Given the description of an element on the screen output the (x, y) to click on. 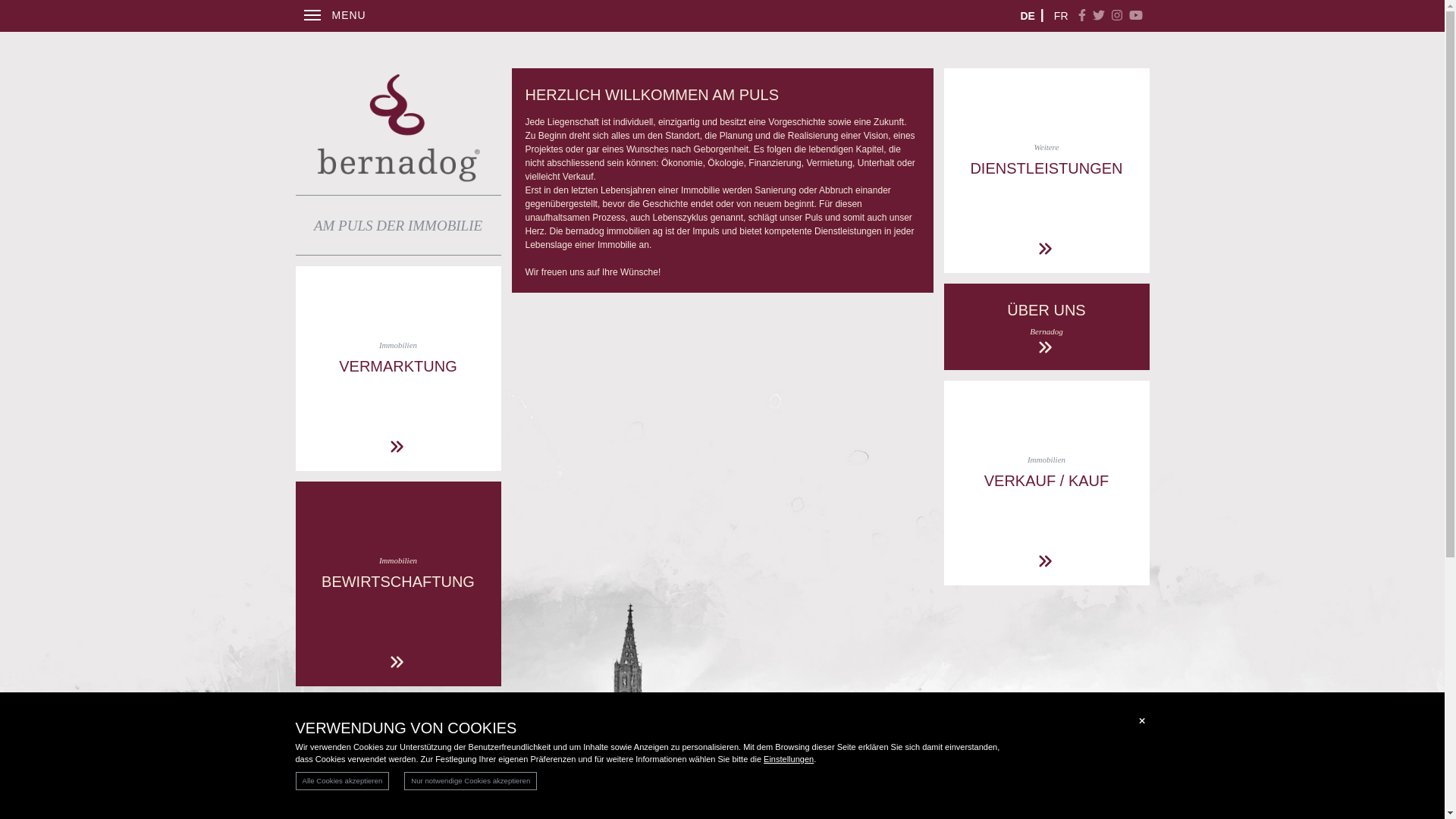
Alle Cookies akzeptieren Element type: text (342, 780)
MENU Element type: text (334, 15)
Einstellungen Element type: text (788, 758)
Nur notwendige Cookies akzeptieren Element type: text (470, 780)
DE Element type: text (1027, 16)
FR Element type: text (1061, 16)
